Given the description of an element on the screen output the (x, y) to click on. 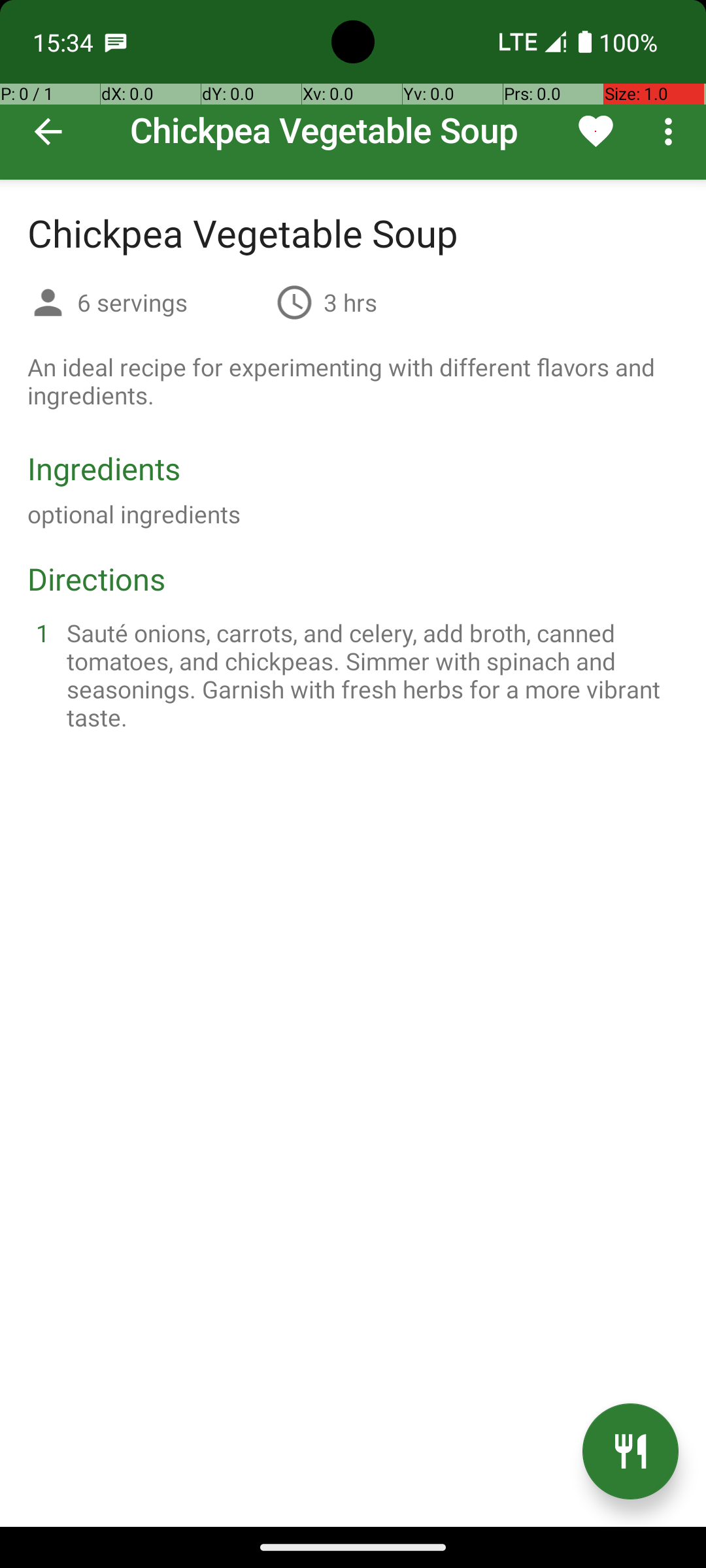
optional ingredients Element type: android.widget.TextView (133, 513)
Sauté onions, carrots, and celery, add broth, canned tomatoes, and chickpeas. Simmer with spinach and seasonings. Garnish with fresh herbs for a more vibrant taste. Element type: android.widget.TextView (368, 674)
